Given the description of an element on the screen output the (x, y) to click on. 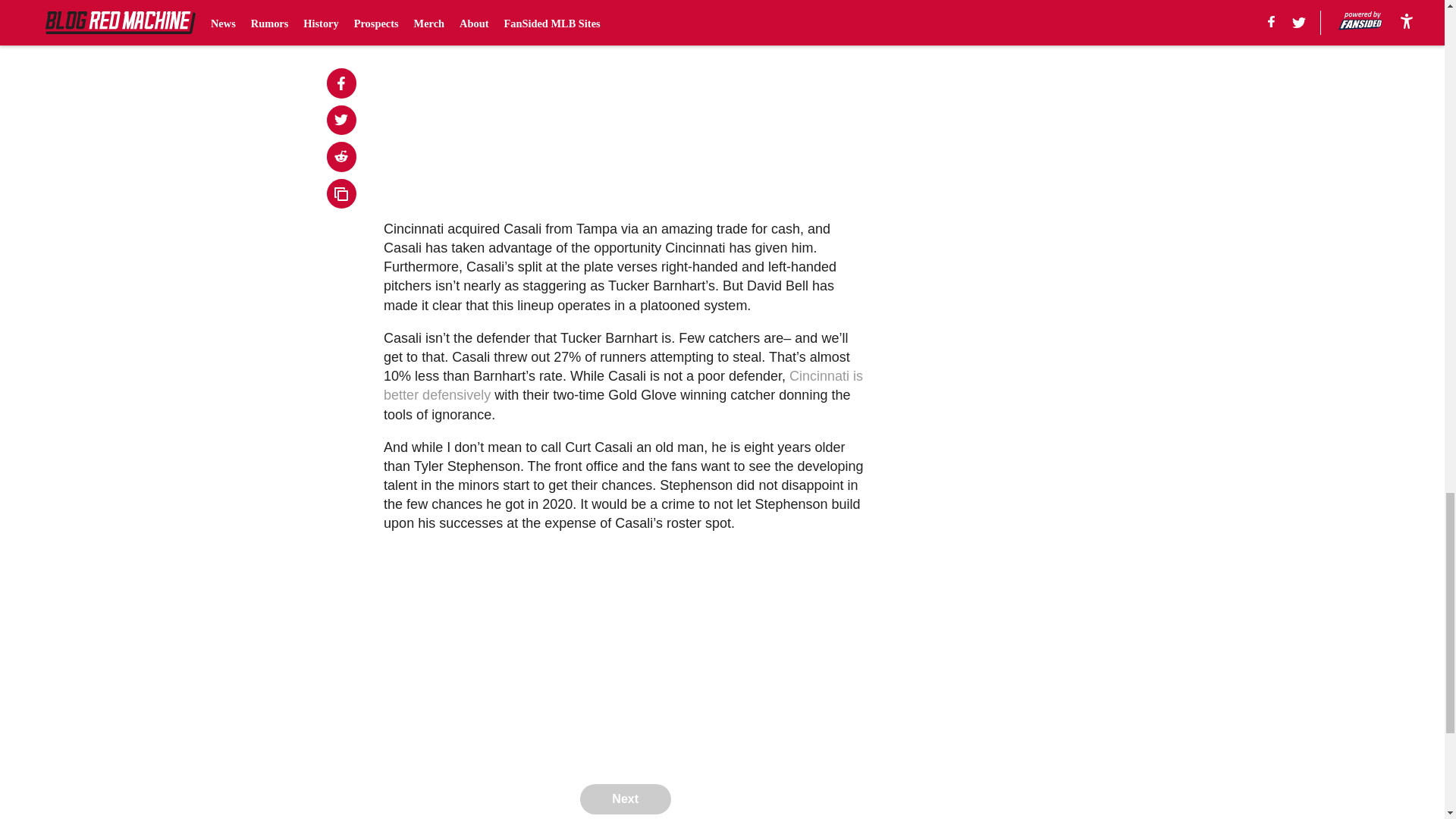
Cincinnati is better defensively (623, 385)
